Given the description of an element on the screen output the (x, y) to click on. 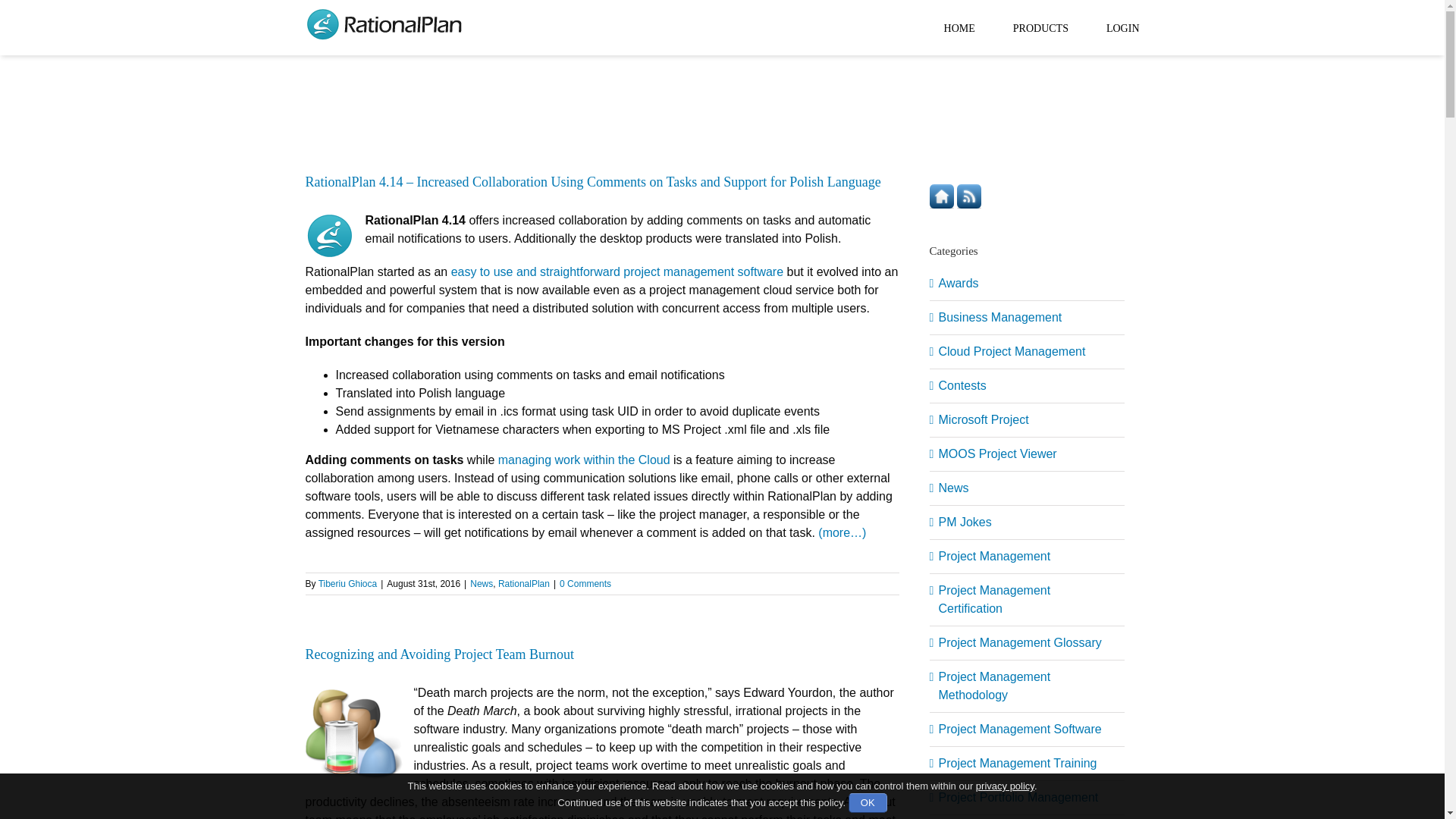
Blog home (943, 192)
RationalPlan Project Management Software (328, 235)
News (481, 583)
Subscribe to feed (968, 192)
Tiberiu Ghioca (347, 583)
managing work within the Cloud (583, 459)
PRODUCTS (1040, 27)
RationalPlan (523, 583)
Recognizing and Avoiding Project Team Burnout (438, 654)
easy to use and straightforward project management software (617, 271)
Posts by Tiberiu Ghioca (347, 583)
team-burnout (352, 732)
0 Comments (585, 583)
